Given the description of an element on the screen output the (x, y) to click on. 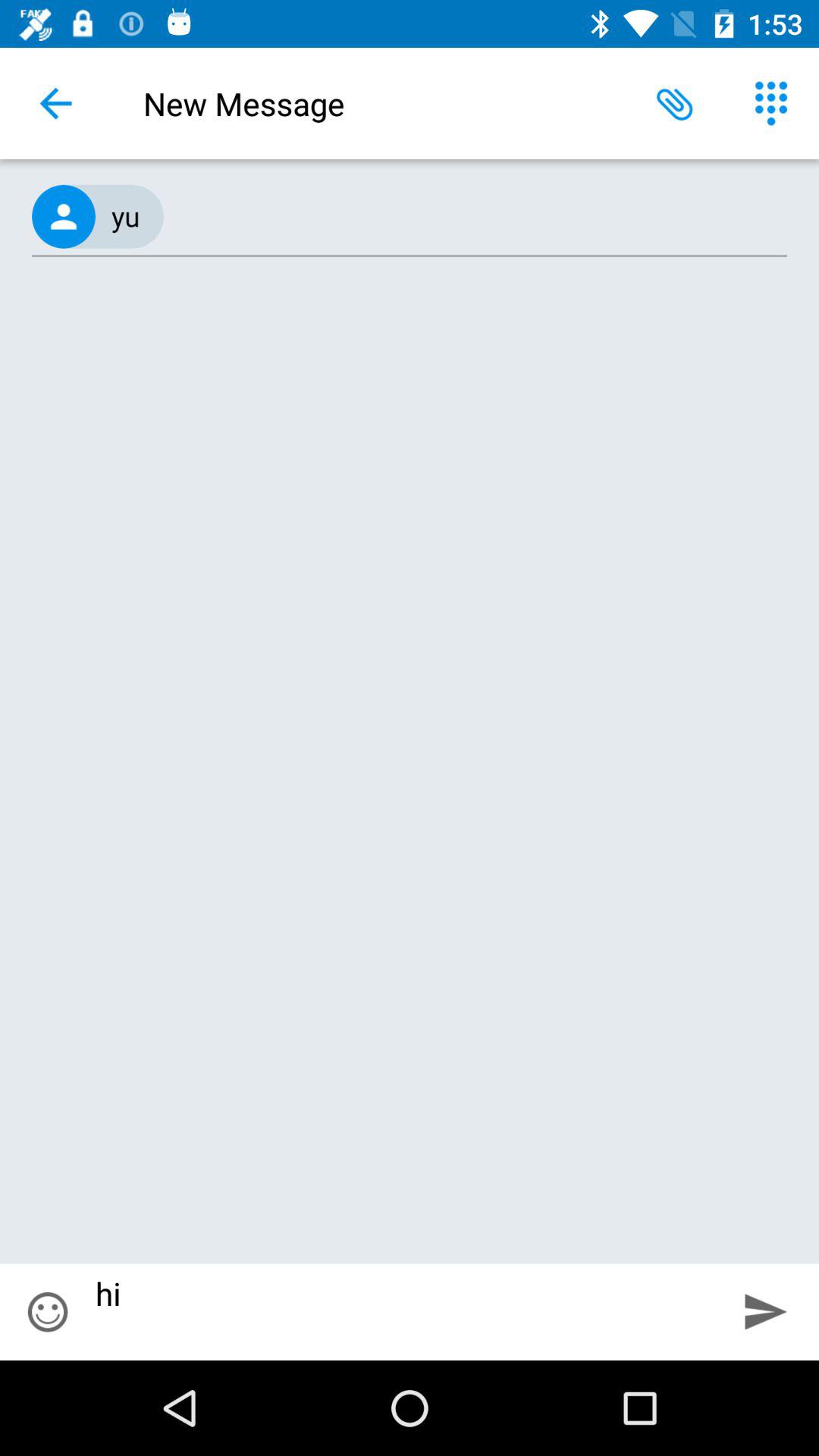
select the item at the bottom right corner (766, 1311)
